Given the description of an element on the screen output the (x, y) to click on. 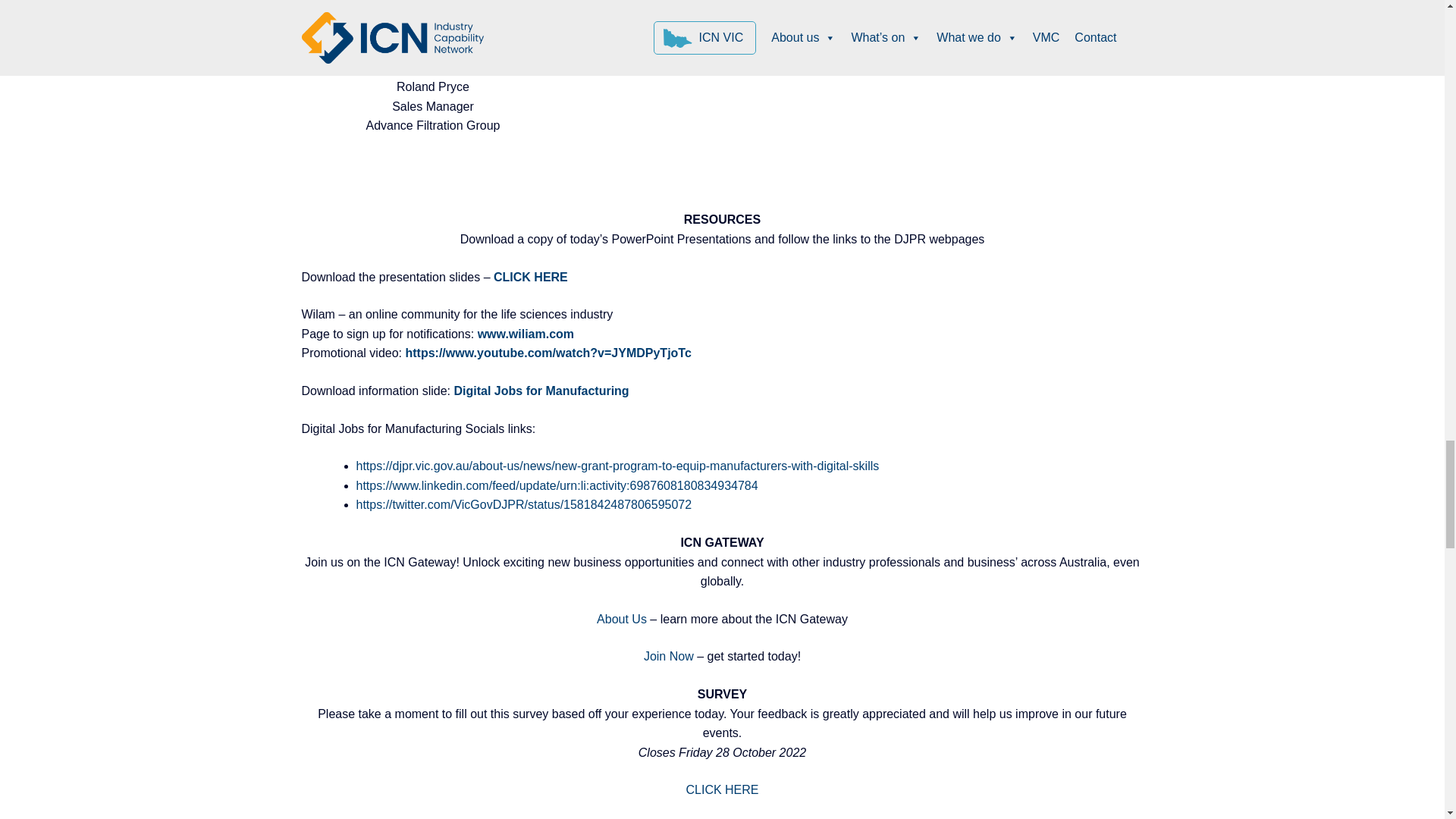
www.wiliam.com (525, 333)
About Us (621, 618)
Digital Jobs for Manufacturing (540, 390)
Join Now (668, 656)
CLICK HERE  (531, 277)
CLICK HERE (721, 789)
